Given the description of an element on the screen output the (x, y) to click on. 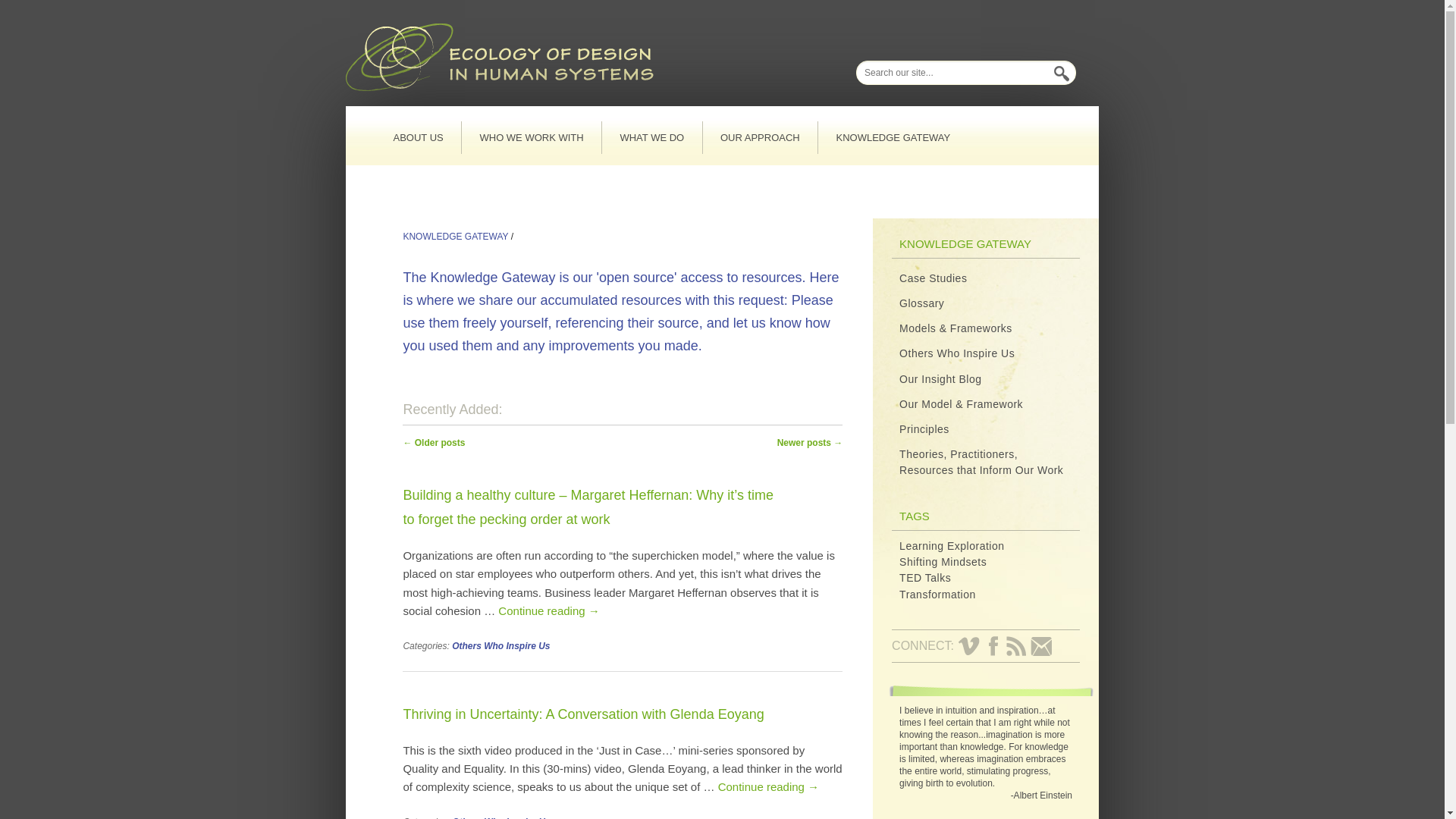
Email (1042, 646)
Thriving in Uncertainty: A Conversation with Glenda Eoyang (582, 721)
SKIP TO PRIMARY CONTENT (469, 122)
Glossary (921, 303)
WHAT WE DO (651, 137)
Facebook (994, 646)
SKIP TO SECONDARY CONTENT (478, 122)
OUR APPROACH (760, 137)
WHO WE WORK WITH (531, 137)
Vimeo (968, 646)
RSS (1016, 646)
Skip to primary content (469, 122)
Skip to secondary content (478, 122)
KNOWLEDGE GATEWAY (893, 137)
